Given the description of an element on the screen output the (x, y) to click on. 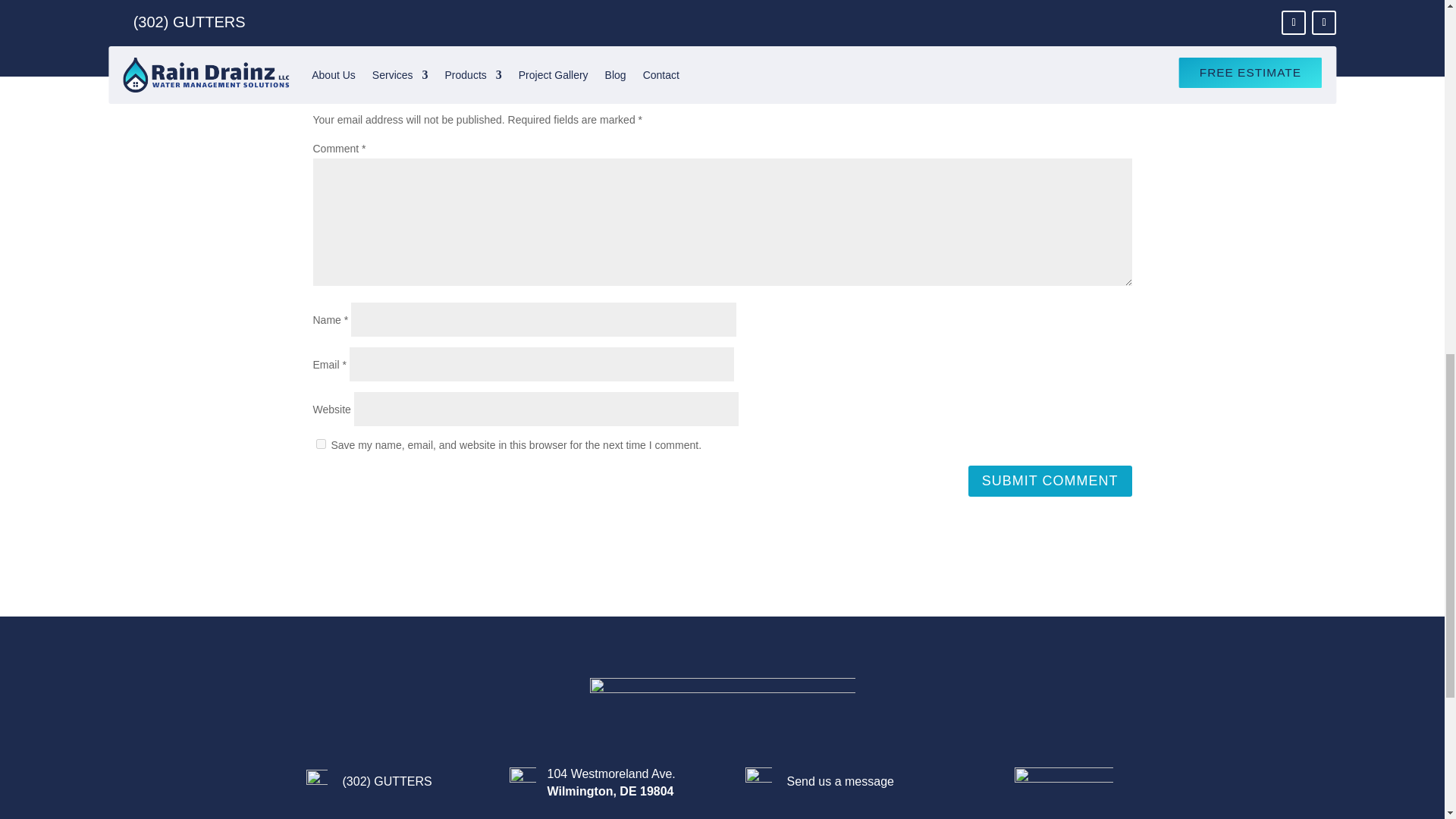
BBB Logo 2 (1063, 786)
Submit Comment (1050, 481)
Reverse-logo (722, 705)
yes (319, 443)
